Given the description of an element on the screen output the (x, y) to click on. 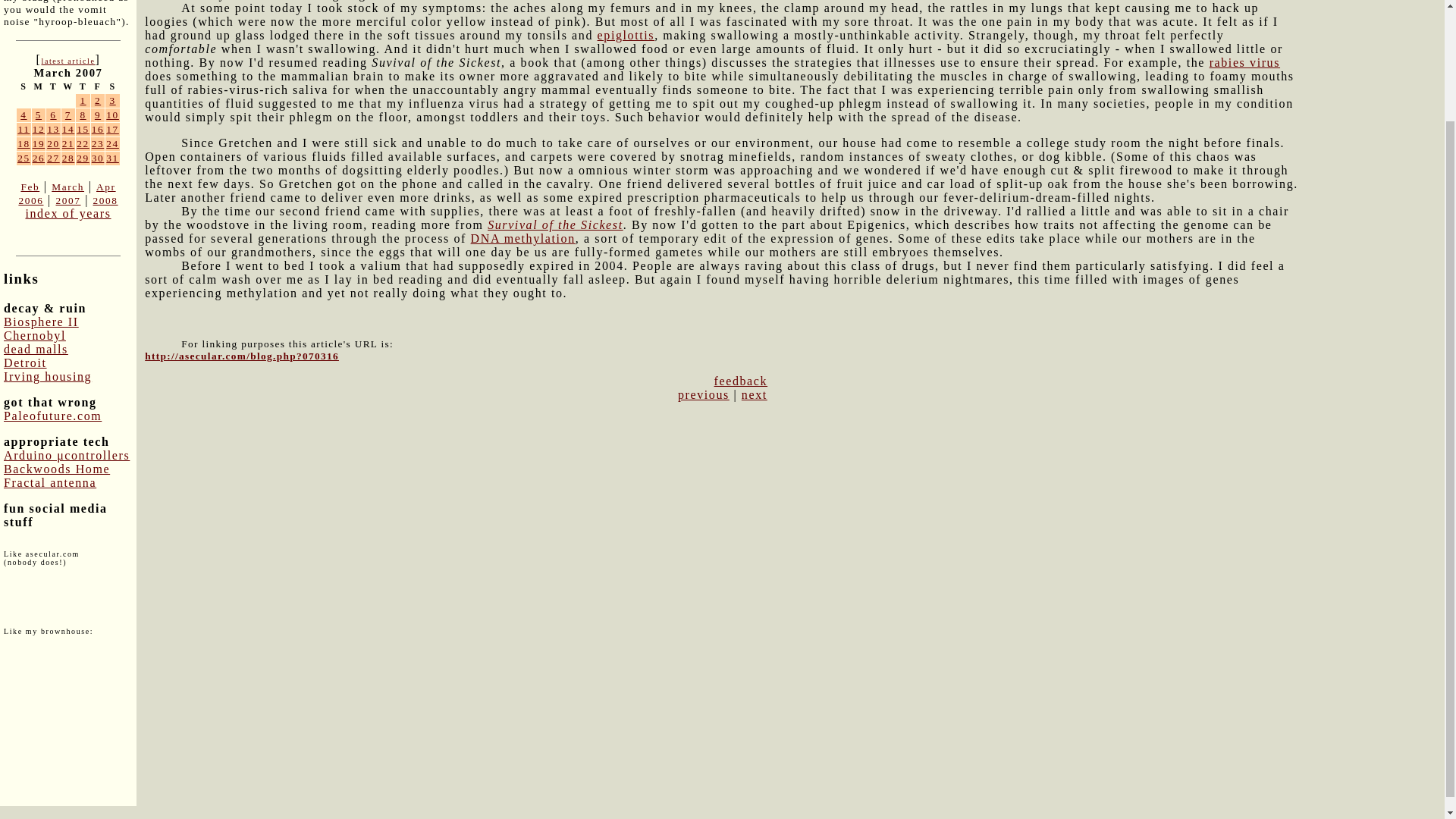
22 (82, 143)
21 (68, 143)
14 (68, 129)
latest article (67, 60)
2006 (30, 200)
28 (68, 157)
16 (97, 129)
27 (52, 157)
18 (23, 143)
19 (38, 143)
